Given the description of an element on the screen output the (x, y) to click on. 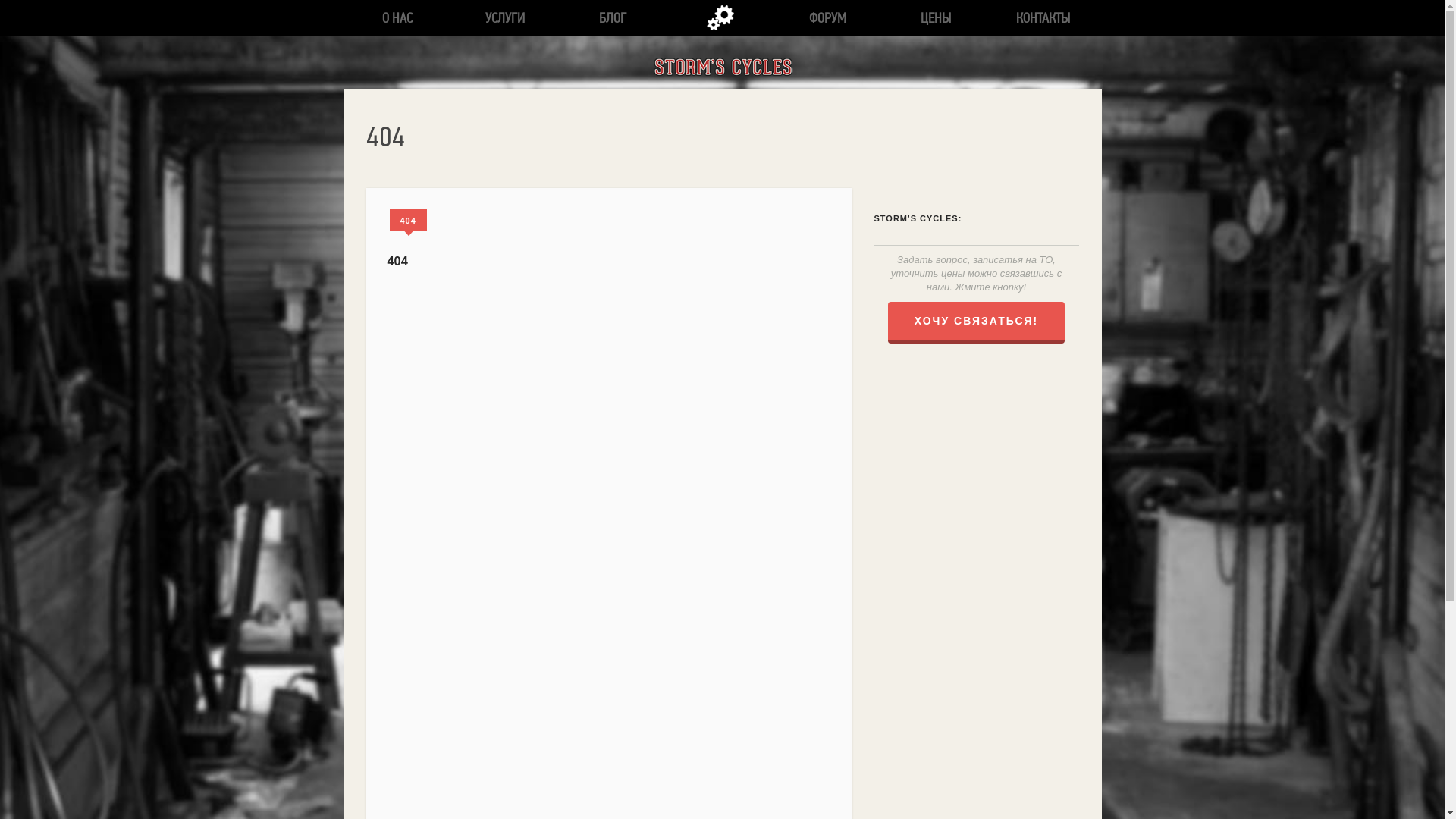
404 Element type: text (407, 220)
